Given the description of an element on the screen output the (x, y) to click on. 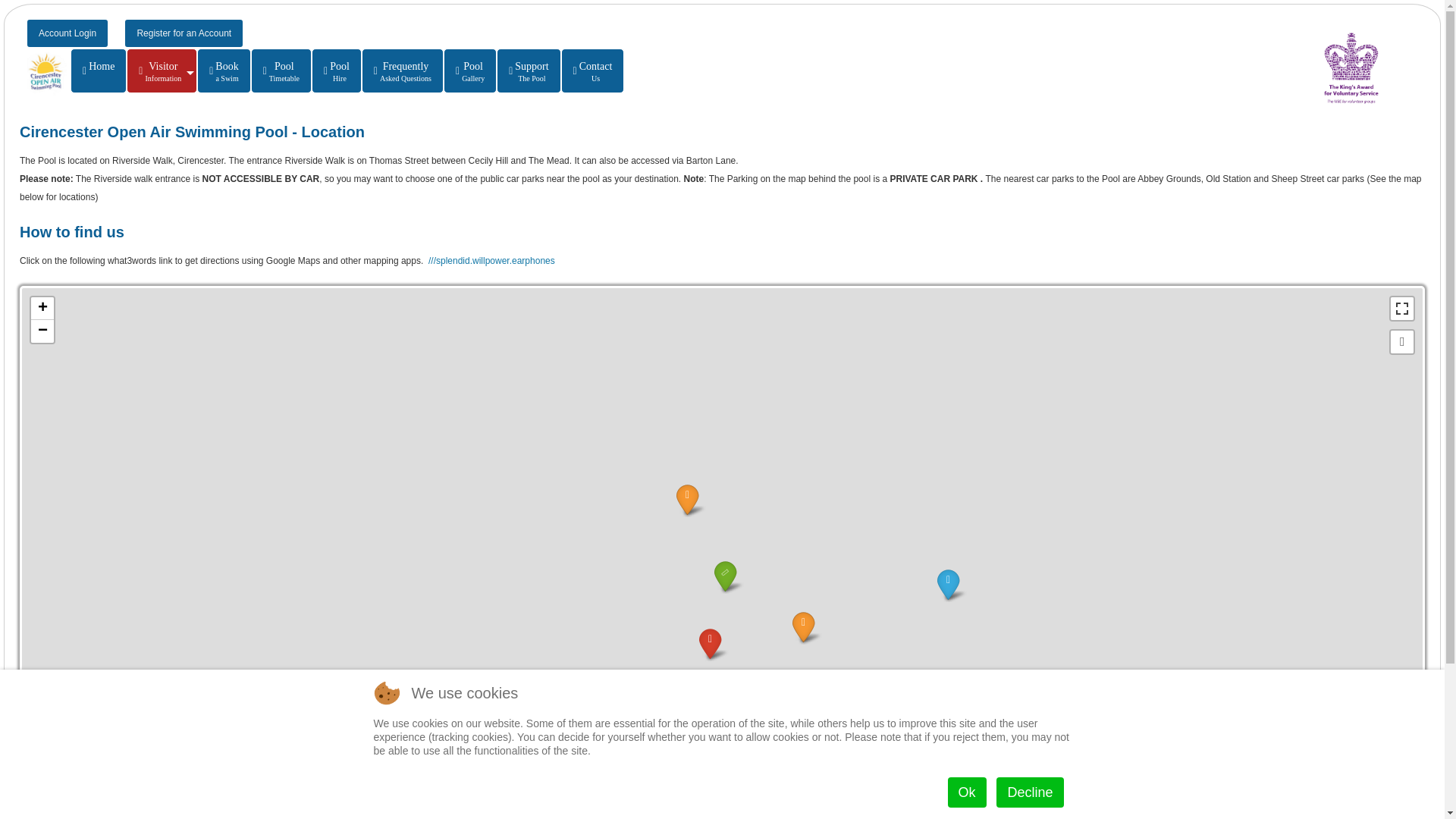
Zoom in (593, 70)
Register for an Account (41, 308)
Decline (184, 32)
Current Position (1028, 792)
Account Login (281, 70)
Ok (1401, 341)
Zoom out (470, 70)
View Fullscreen (67, 32)
Home (967, 792)
